Given the description of an element on the screen output the (x, y) to click on. 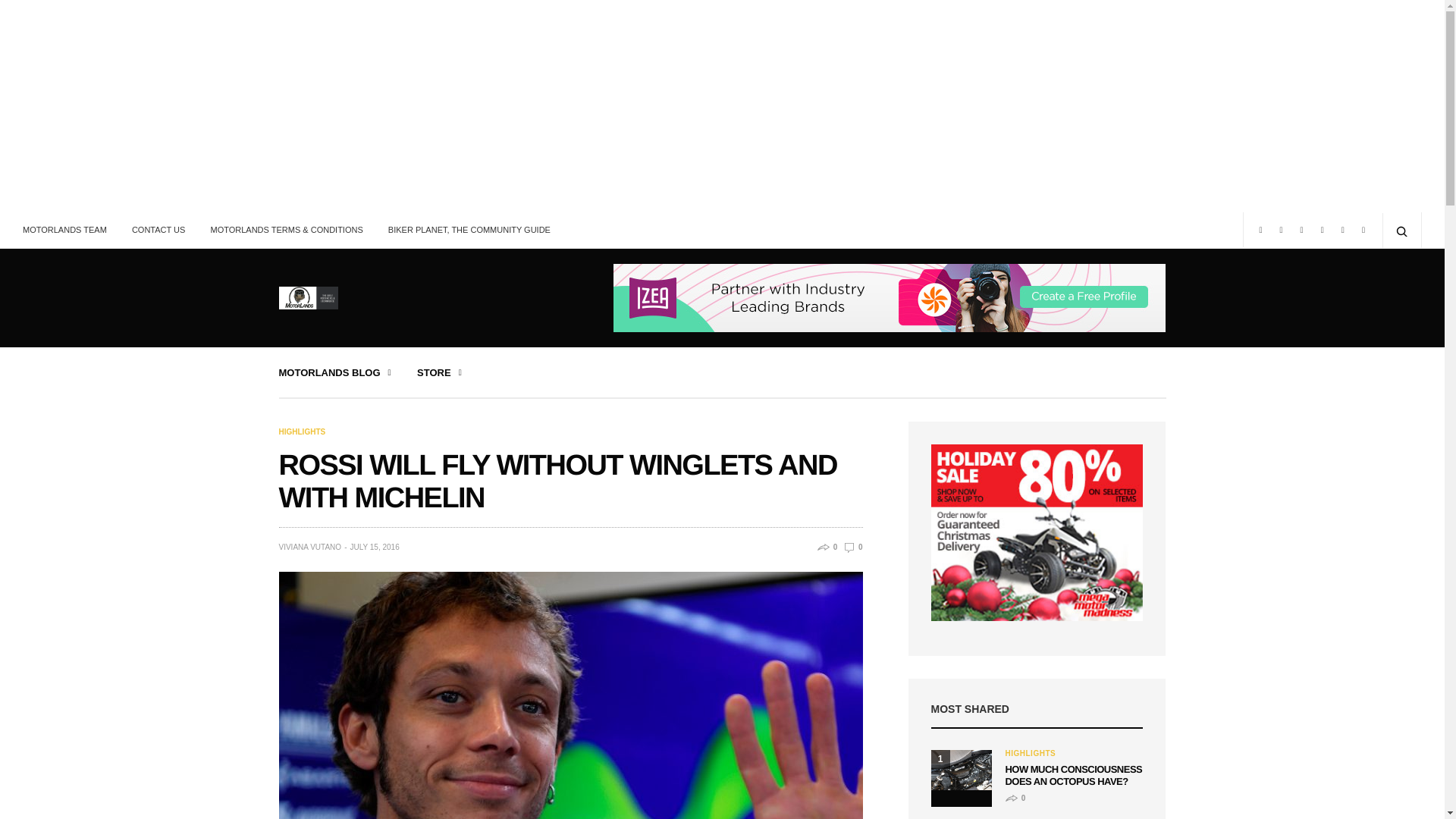
MOTORLANDS BLOG (335, 372)
MOTORLANDS TEAM (70, 229)
HighLights (302, 431)
STORE (438, 372)
BIKER PLANET, THE COMMUNITY GUIDE (469, 229)
CONTACT US (158, 229)
How Much Consciousness Does An Octopus Have? (961, 770)
Search (16, 16)
Rossi will fly without Winglets and with Michelin (852, 546)
